Given the description of an element on the screen output the (x, y) to click on. 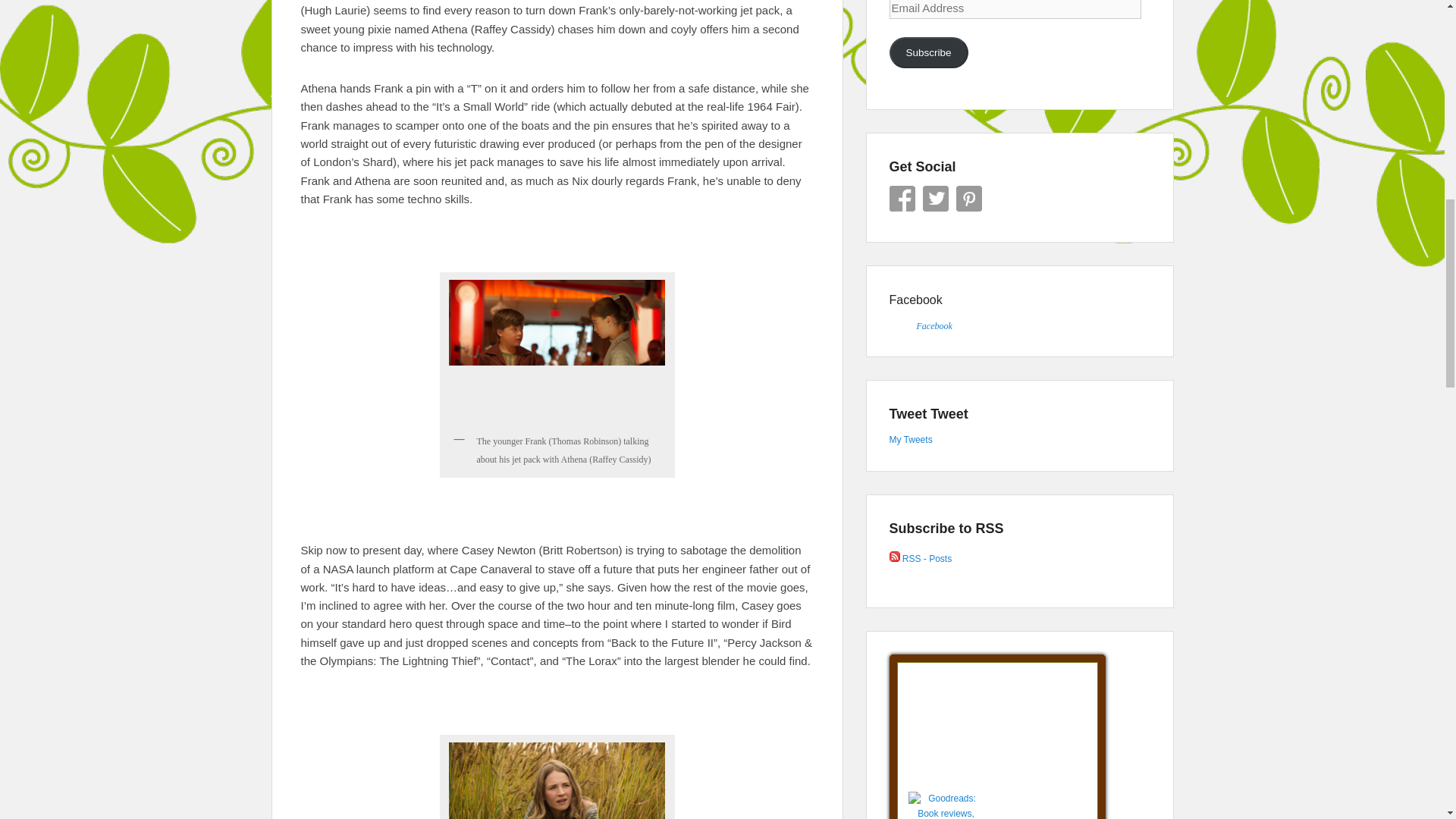
Facebook (901, 198)
Pinterest (968, 198)
Subscribe to posts (920, 558)
Twitter (934, 198)
